Given the description of an element on the screen output the (x, y) to click on. 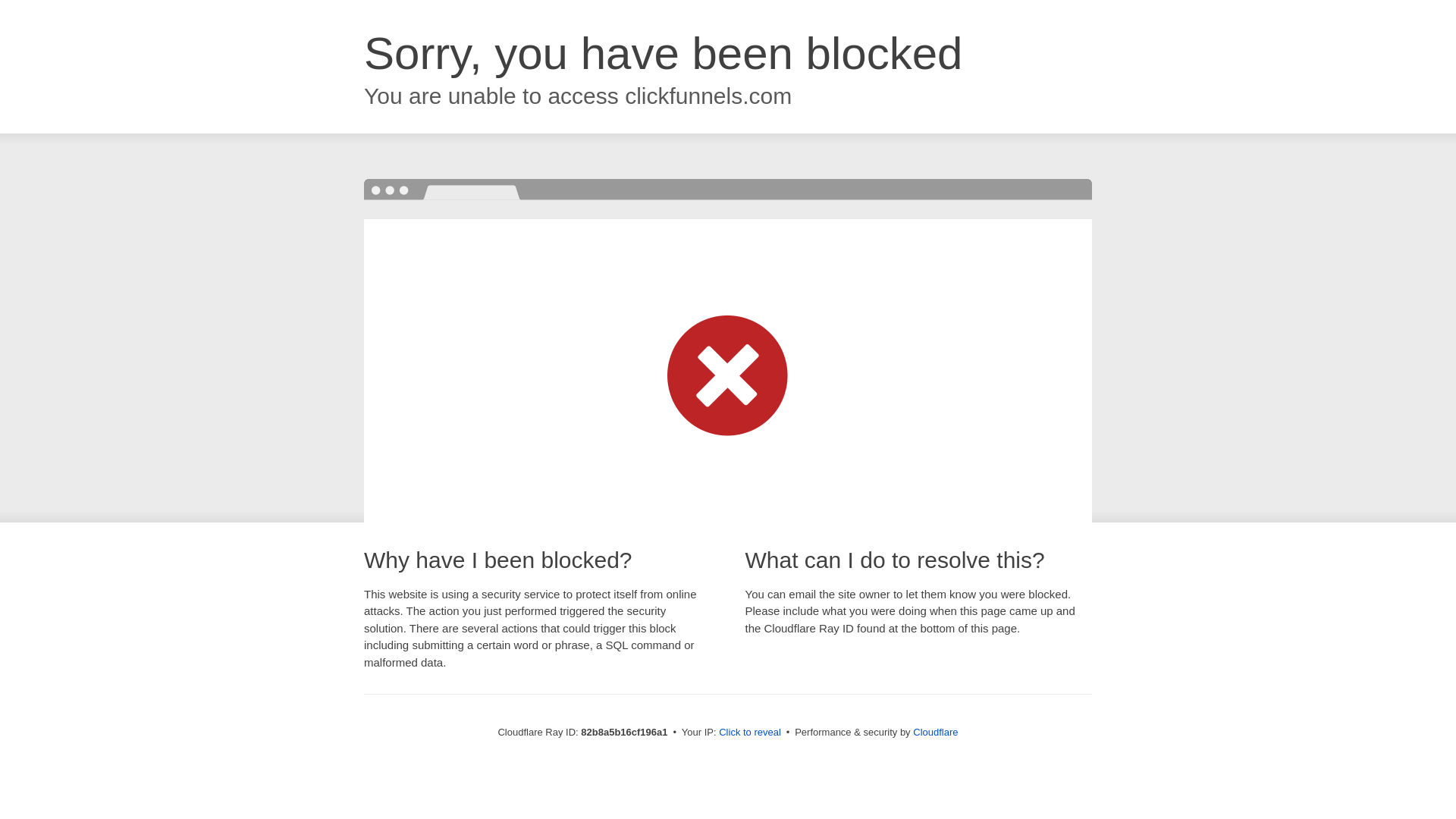
Cloudflare Element type: text (935, 731)
Click to reveal Element type: text (749, 732)
